Given the description of an element on the screen output the (x, y) to click on. 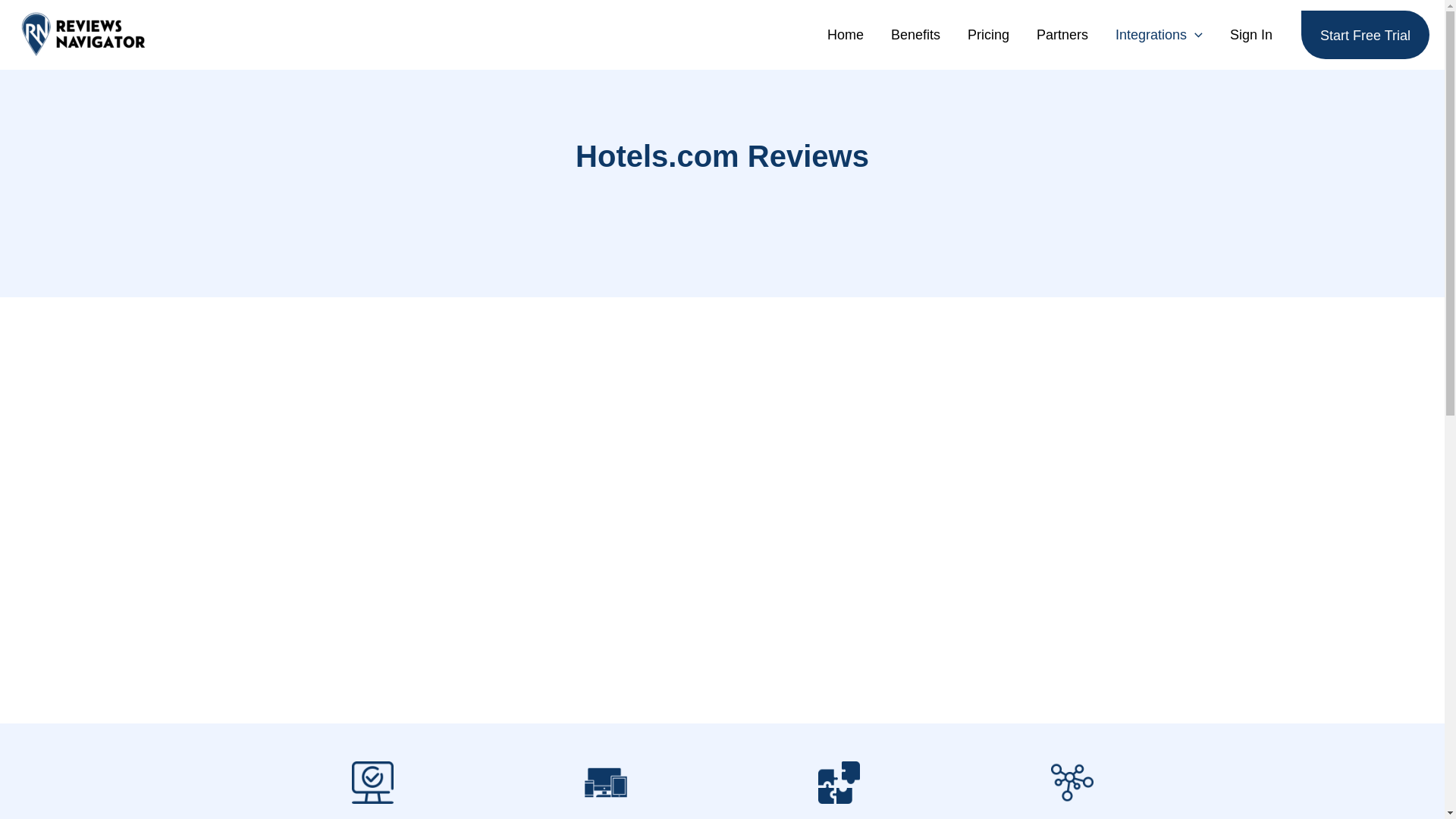
Start Free Trial (1365, 34)
Pricing (988, 34)
Home (845, 34)
Integrations (1158, 34)
Partners (1062, 34)
Benefits (915, 34)
Sign In (1250, 34)
